Given the description of an element on the screen output the (x, y) to click on. 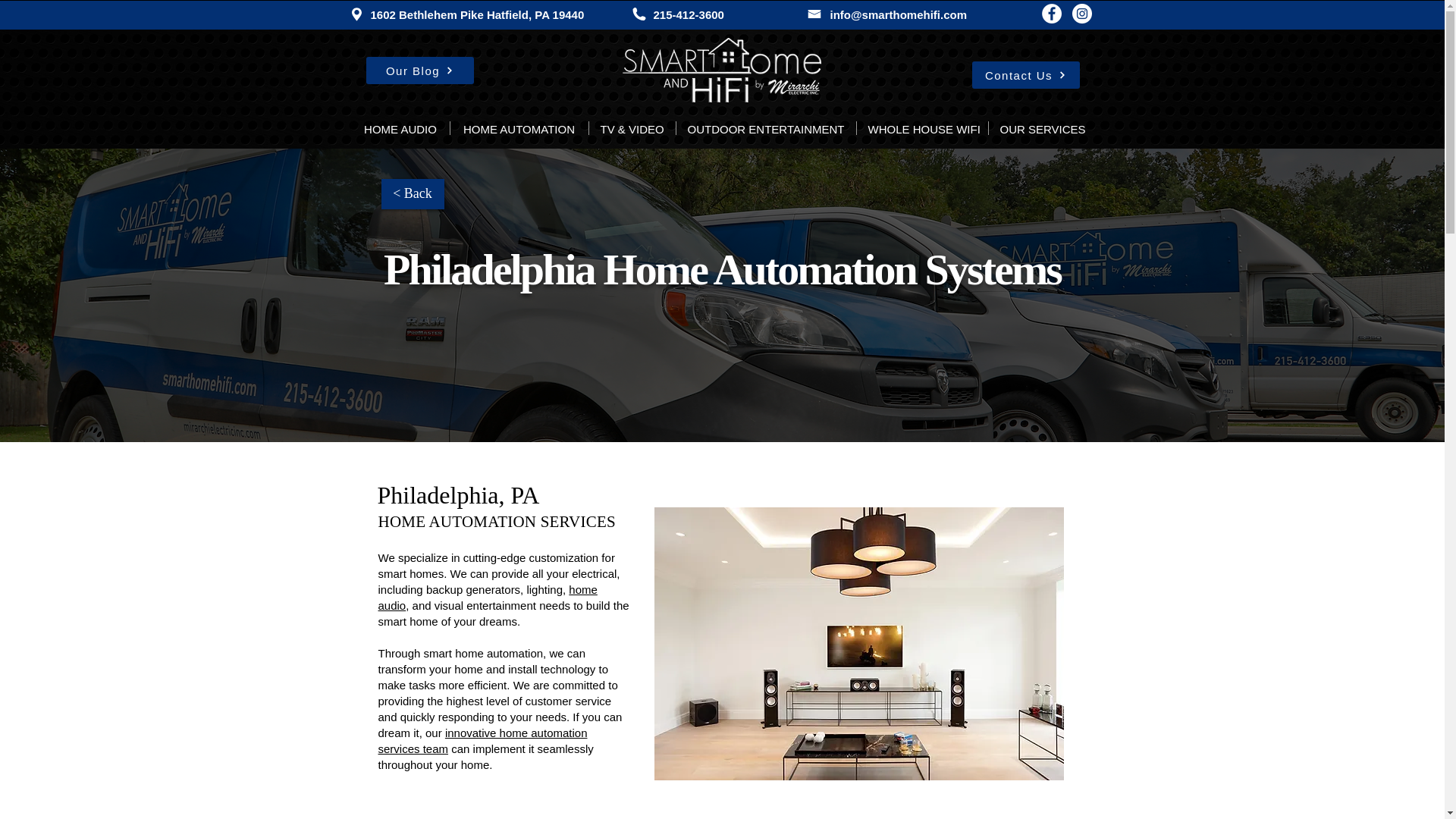
Contact Us (1026, 74)
Our Blog (419, 70)
HOME AUTOMATION (518, 128)
OUTDOOR ENTERTAINMENT (766, 128)
1602 Bethlehem Pike Hatfield, PA 19440 (476, 14)
speaker-systems.jpg (857, 643)
OUR SERVICES (1041, 128)
WHOLE HOUSE WIFI (922, 128)
home audio (486, 597)
innovative home automation services team (481, 740)
HOME AUDIO (400, 128)
215-412-3600 (688, 14)
